Given the description of an element on the screen output the (x, y) to click on. 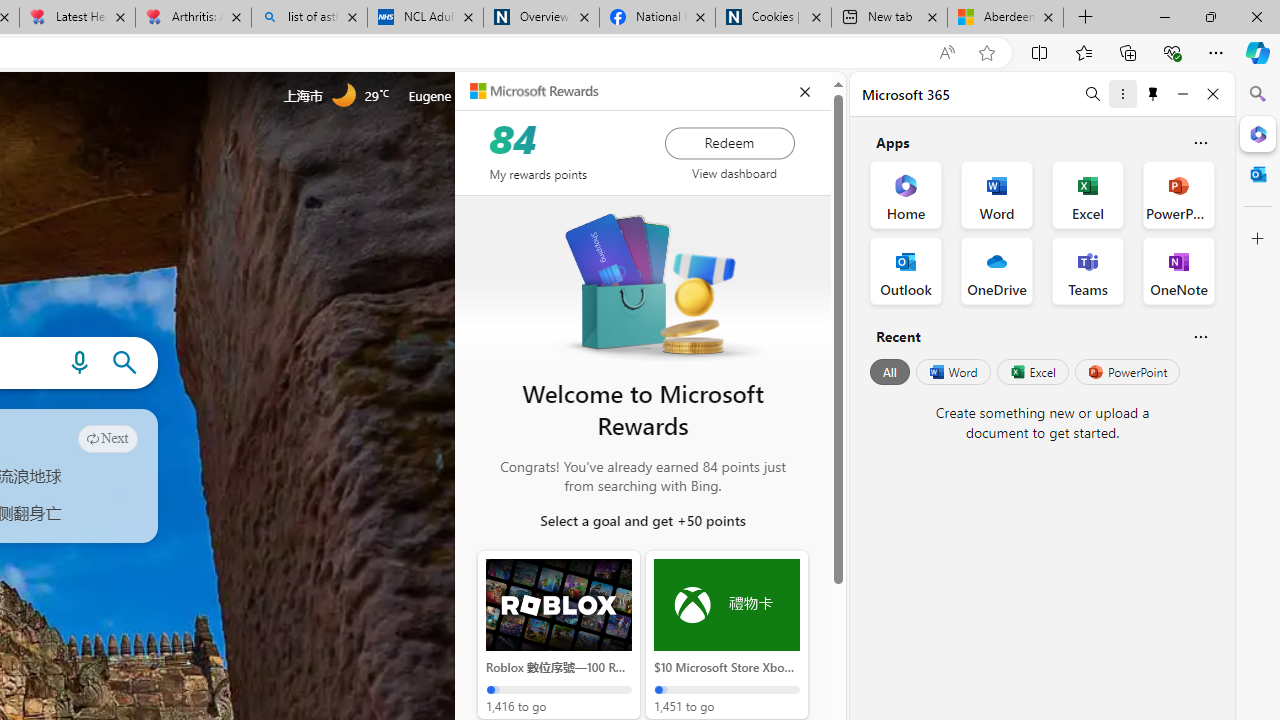
View dashboard (734, 173)
All (890, 372)
PowerPoint (1127, 372)
PowerPoint Office App (1178, 194)
Excel (1031, 372)
Microsoft Rewards 84 (537, 94)
Word Office App (996, 194)
Microsoft Rewards (534, 90)
Next (108, 438)
AutomationID: rh_meter (543, 94)
Is this helpful? (1200, 336)
Word (952, 372)
